Given the description of an element on the screen output the (x, y) to click on. 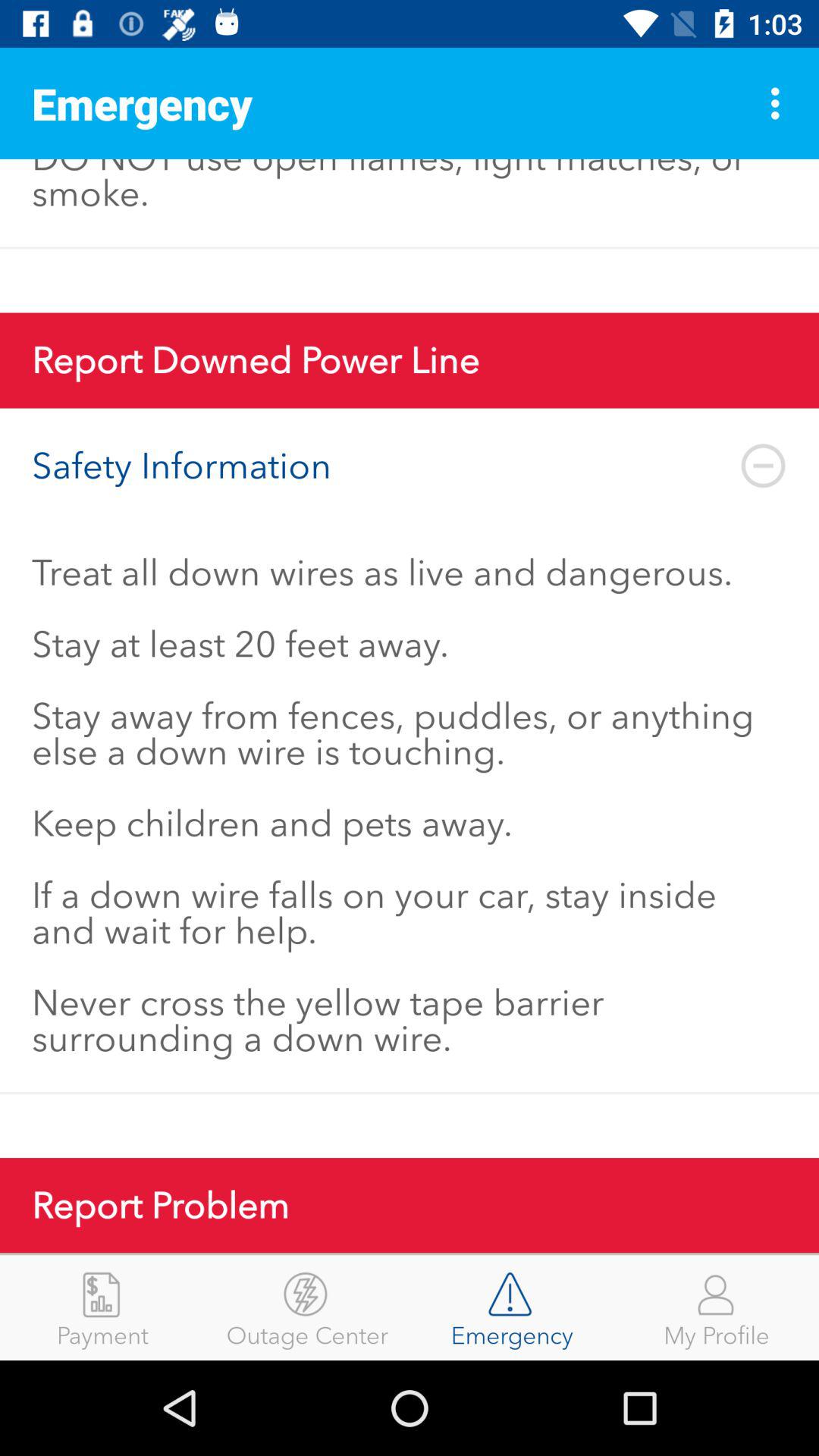
scroll to safety information item (409, 465)
